Given the description of an element on the screen output the (x, y) to click on. 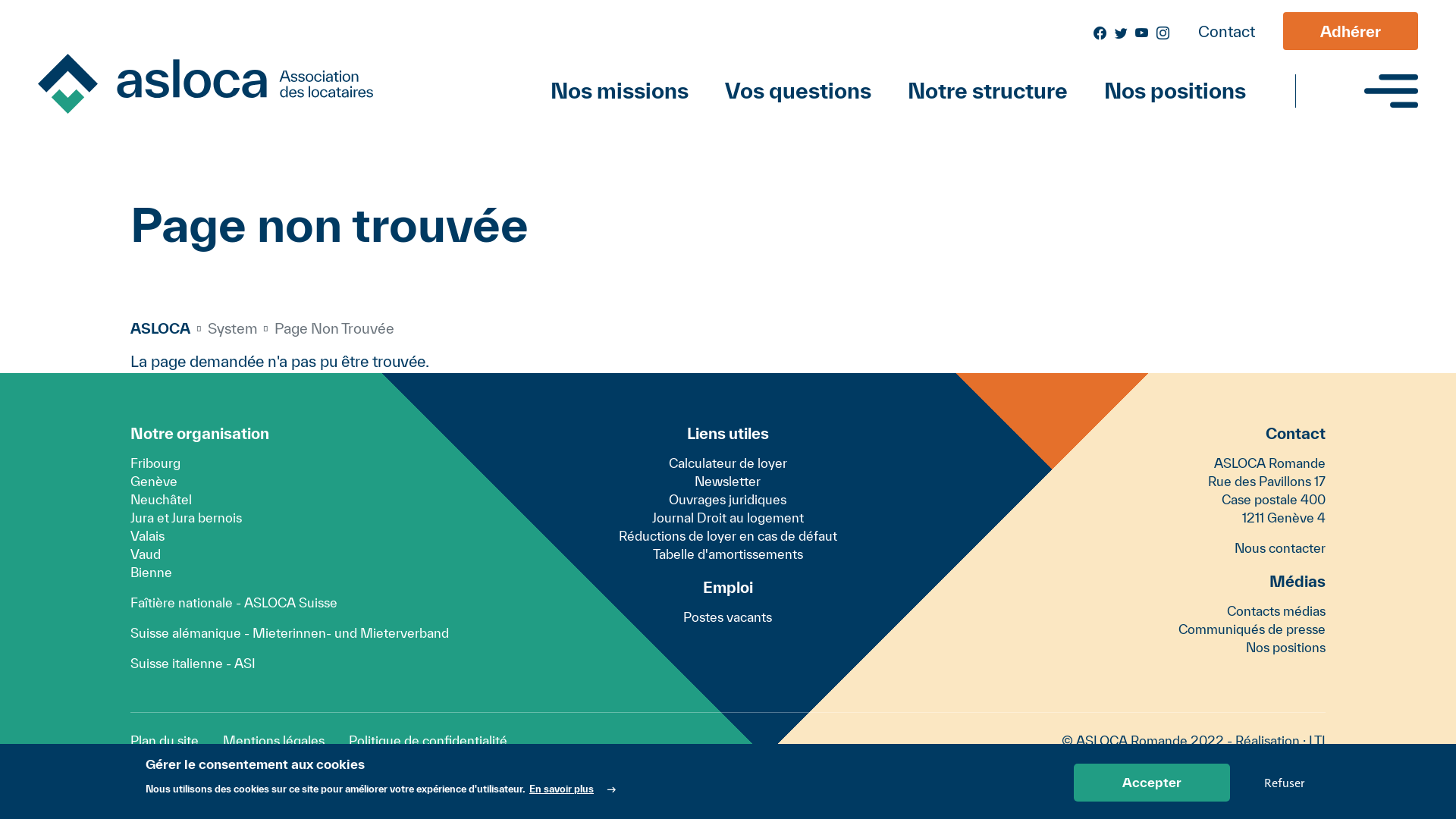
Jura et Jura bernois Element type: text (185, 517)
Tabelle d'amortissements Element type: text (728, 554)
Calculateur de loyer Element type: text (728, 463)
En savoir plus Element type: text (572, 789)
ASLOCA Element type: text (160, 328)
Journal Droit au logement Element type: text (728, 517)
Fribourg Element type: text (155, 462)
Bienne Element type: text (151, 571)
Nos positions Element type: text (1165, 90)
Newsletter Element type: text (728, 481)
Notre structure Element type: text (987, 90)
Refuser Element type: text (1284, 781)
Vos questions Element type: text (797, 90)
Nos missions Element type: text (628, 90)
Vaud Element type: text (145, 553)
Home Element type: hover (217, 83)
LTI Element type: text (1316, 740)
Ouvrages juridiques Element type: text (728, 499)
Suisse italienne - ASI Element type: text (192, 662)
Plan du site Element type: text (170, 740)
Contact Element type: text (1226, 31)
Postes vacants Element type: text (728, 617)
Accepter Element type: text (1151, 782)
Valais Element type: text (147, 535)
Nous contacter Element type: text (1279, 547)
Nos positions Element type: text (1285, 647)
